Given the description of an element on the screen output the (x, y) to click on. 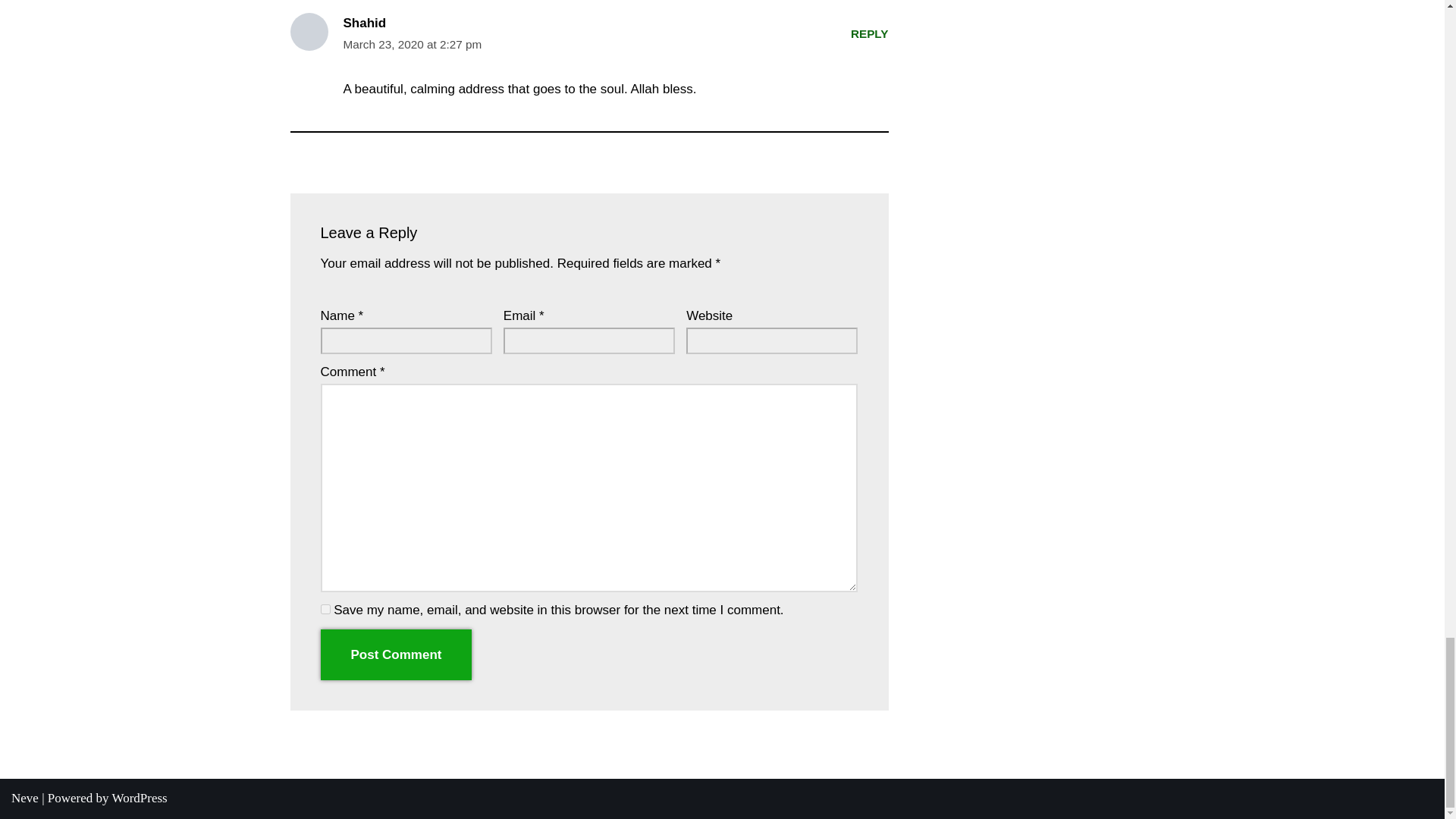
REPLY (869, 33)
Neve (25, 798)
yes (325, 609)
Post Comment (395, 654)
Post Comment (395, 654)
March 23, 2020 at 2:27 pm (411, 45)
WordPress (139, 798)
